Given the description of an element on the screen output the (x, y) to click on. 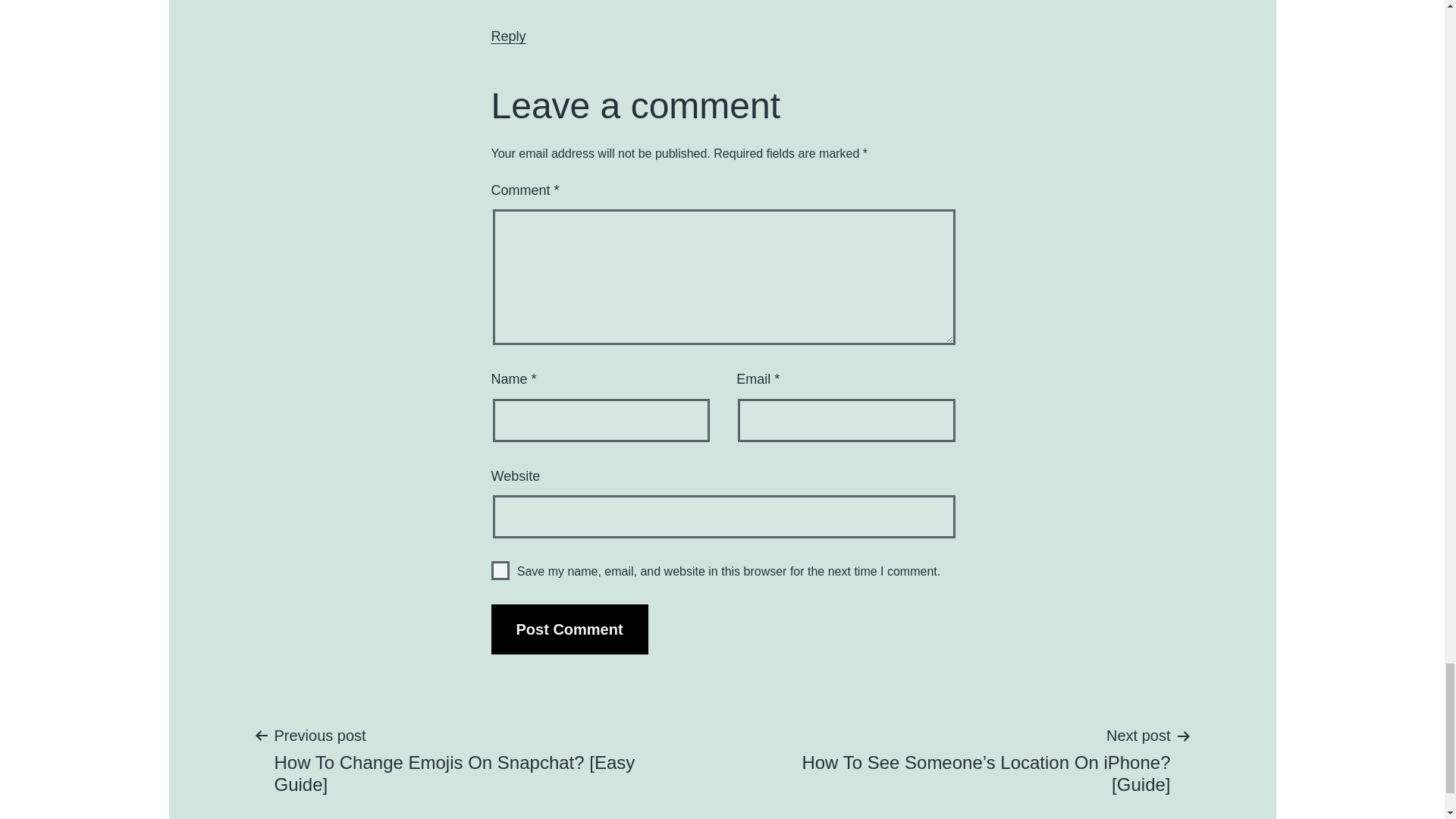
yes (500, 570)
Post Comment (569, 629)
